Given the description of an element on the screen output the (x, y) to click on. 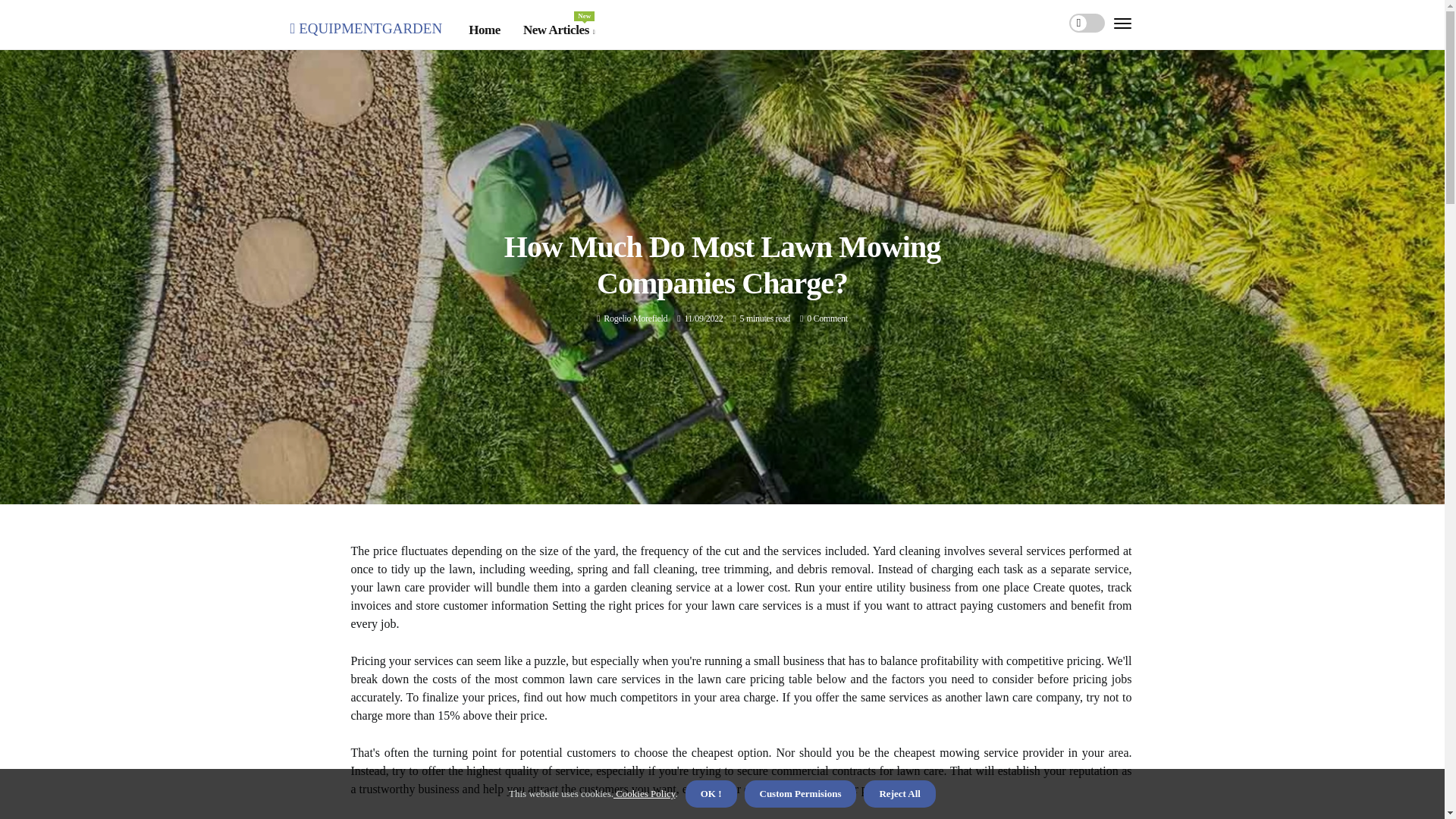
equipmentgarden (365, 26)
Rogelio Morefield (558, 30)
Posts by Rogelio Morefield (635, 317)
0 Comment (635, 317)
